Given the description of an element on the screen output the (x, y) to click on. 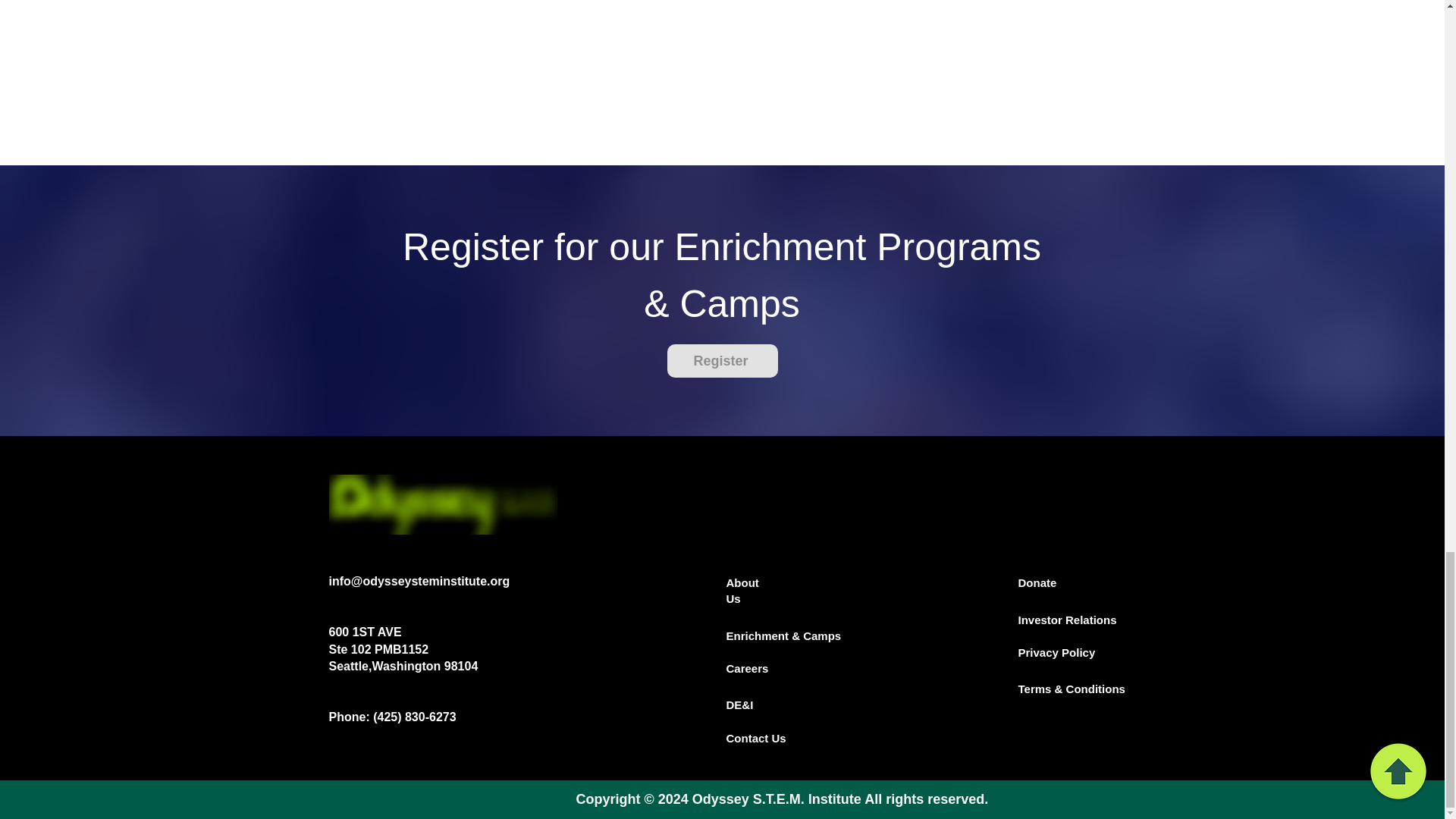
Contact Us (756, 738)
Careers (747, 667)
Privacy Policy (1055, 652)
Seattle,Washington  (386, 666)
Donate (1037, 582)
Investor Relations (1066, 619)
About Us (742, 590)
Register (721, 360)
